Given the description of an element on the screen output the (x, y) to click on. 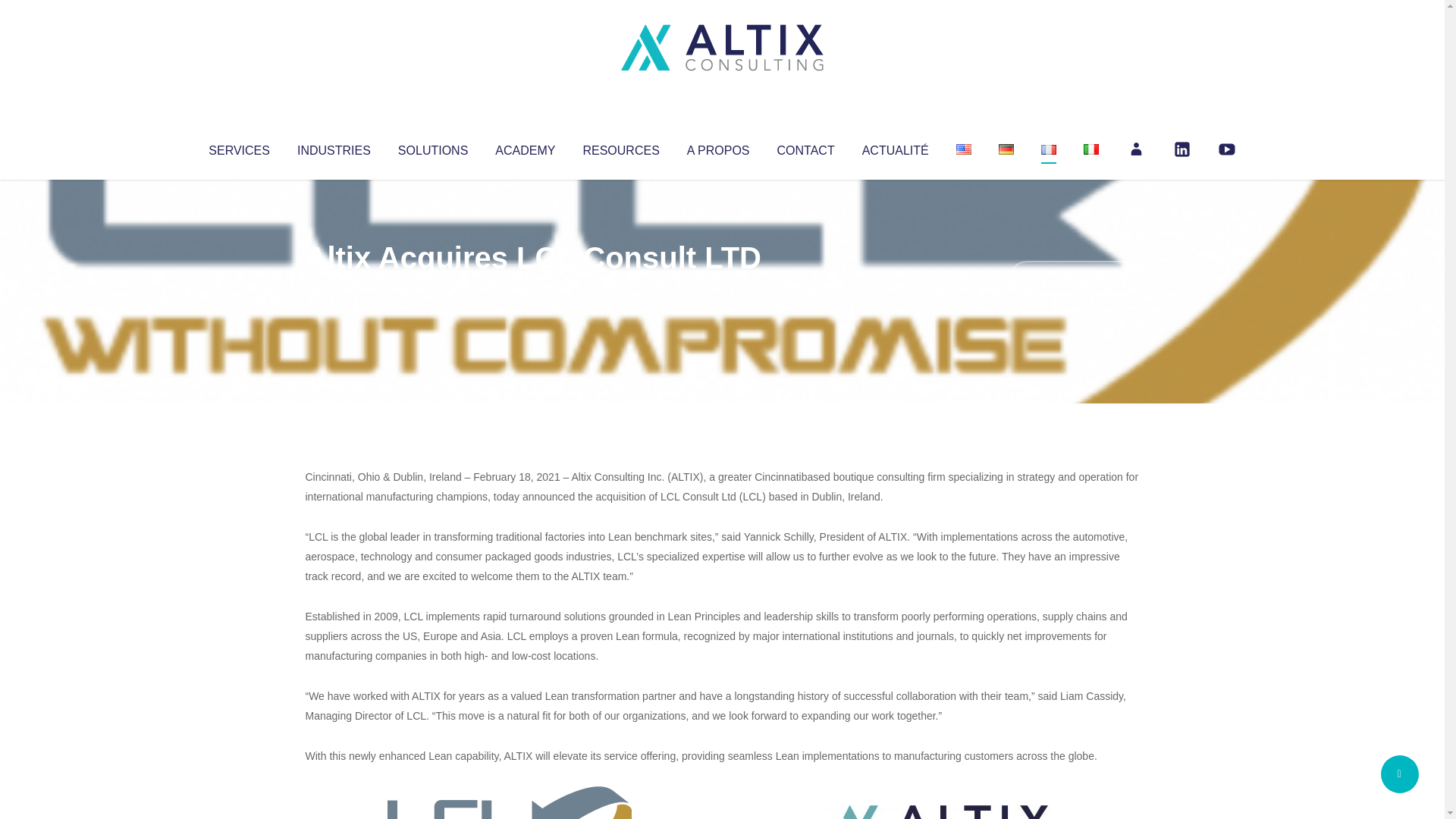
No Comments (1073, 278)
A PROPOS (718, 146)
ACADEMY (524, 146)
Altix (333, 287)
Articles par Altix (333, 287)
SOLUTIONS (432, 146)
INDUSTRIES (334, 146)
Uncategorized (530, 287)
RESOURCES (620, 146)
SERVICES (238, 146)
